Given the description of an element on the screen output the (x, y) to click on. 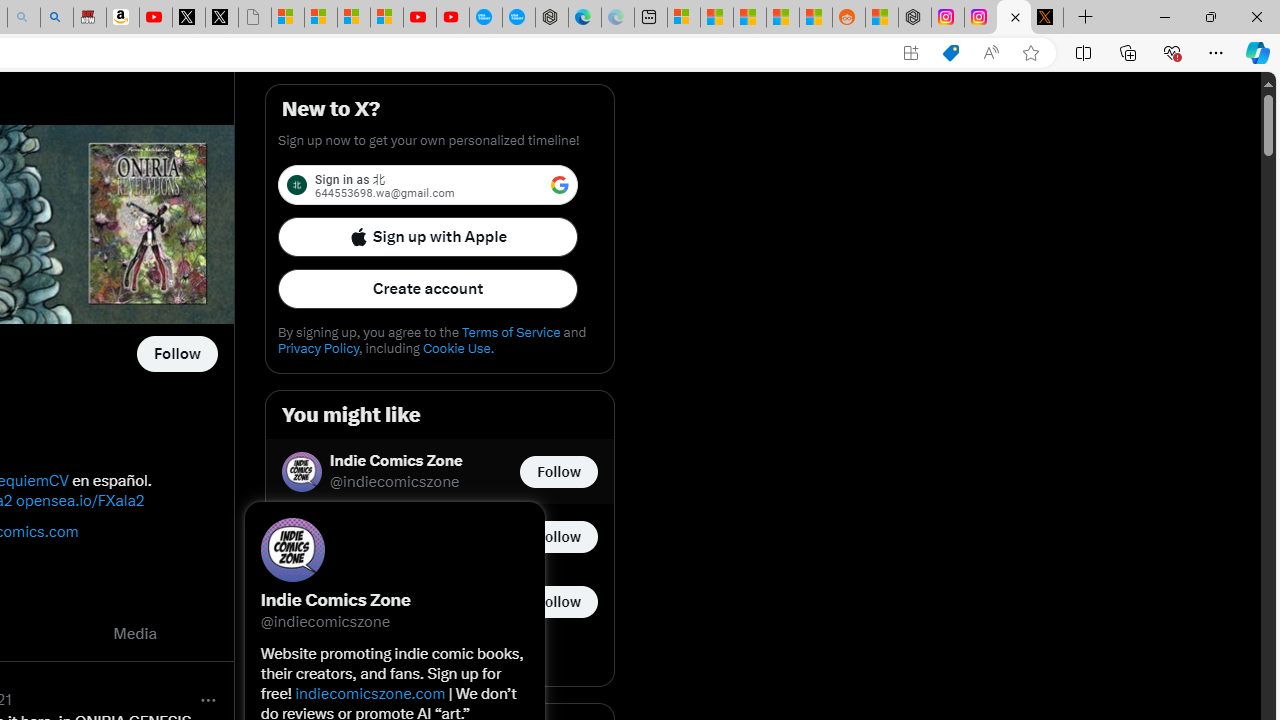
Shanghai, China hourly forecast | Microsoft Weather (749, 17)
Dean Robert Willetts @deanetts Follow @deanetts (440, 536)
help.x.com | 524: A timeout occurred (1046, 17)
Nordace - Nordace has arrived Hong Kong (552, 17)
Media (135, 634)
Sign up with Apple (427, 236)
Next (212, 634)
Day 1: Arriving in Yemen (surreal to be here) - YouTube (155, 17)
